Given the description of an element on the screen output the (x, y) to click on. 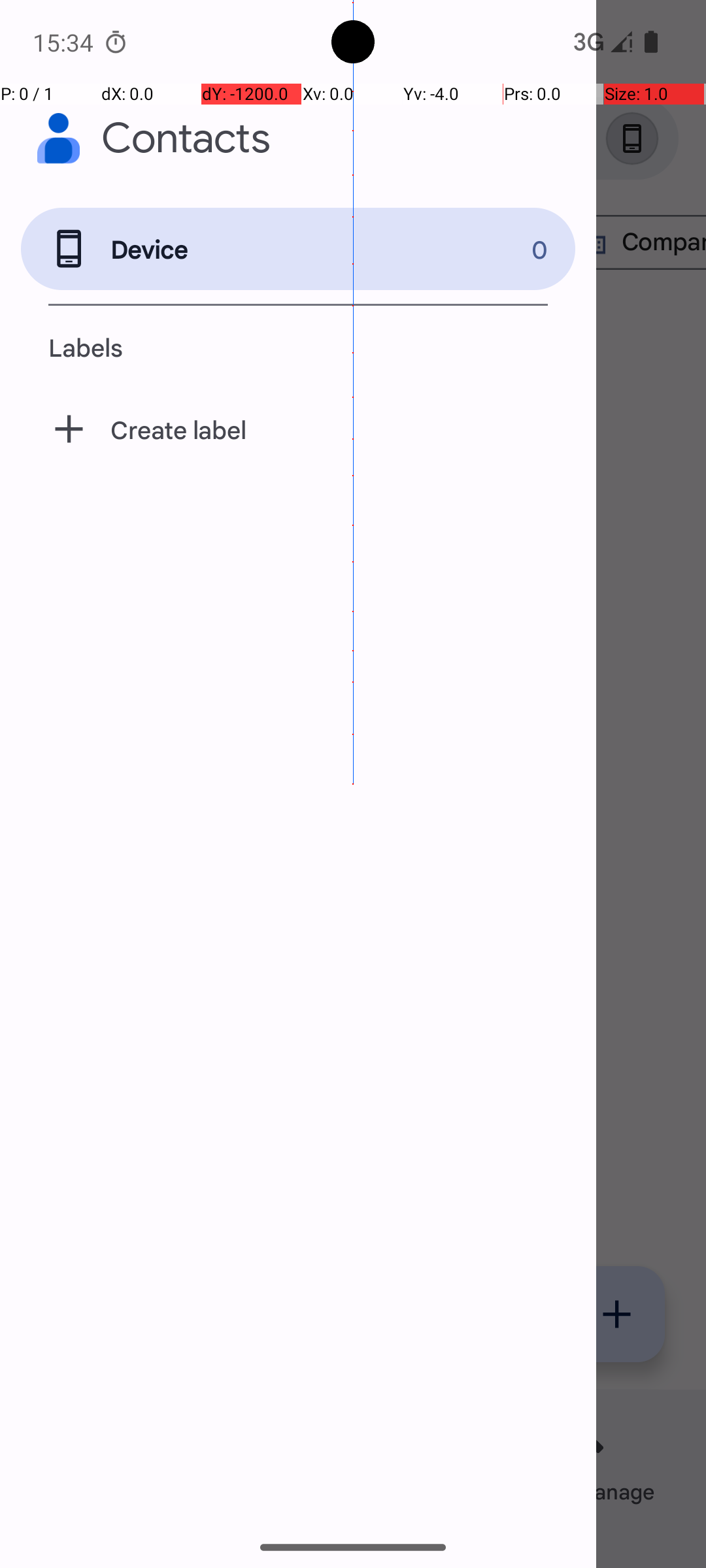
Labels Element type: android.widget.TextView (298, 346)
Create label Element type: android.widget.CheckedTextView (297, 429)
